Given the description of an element on the screen output the (x, y) to click on. 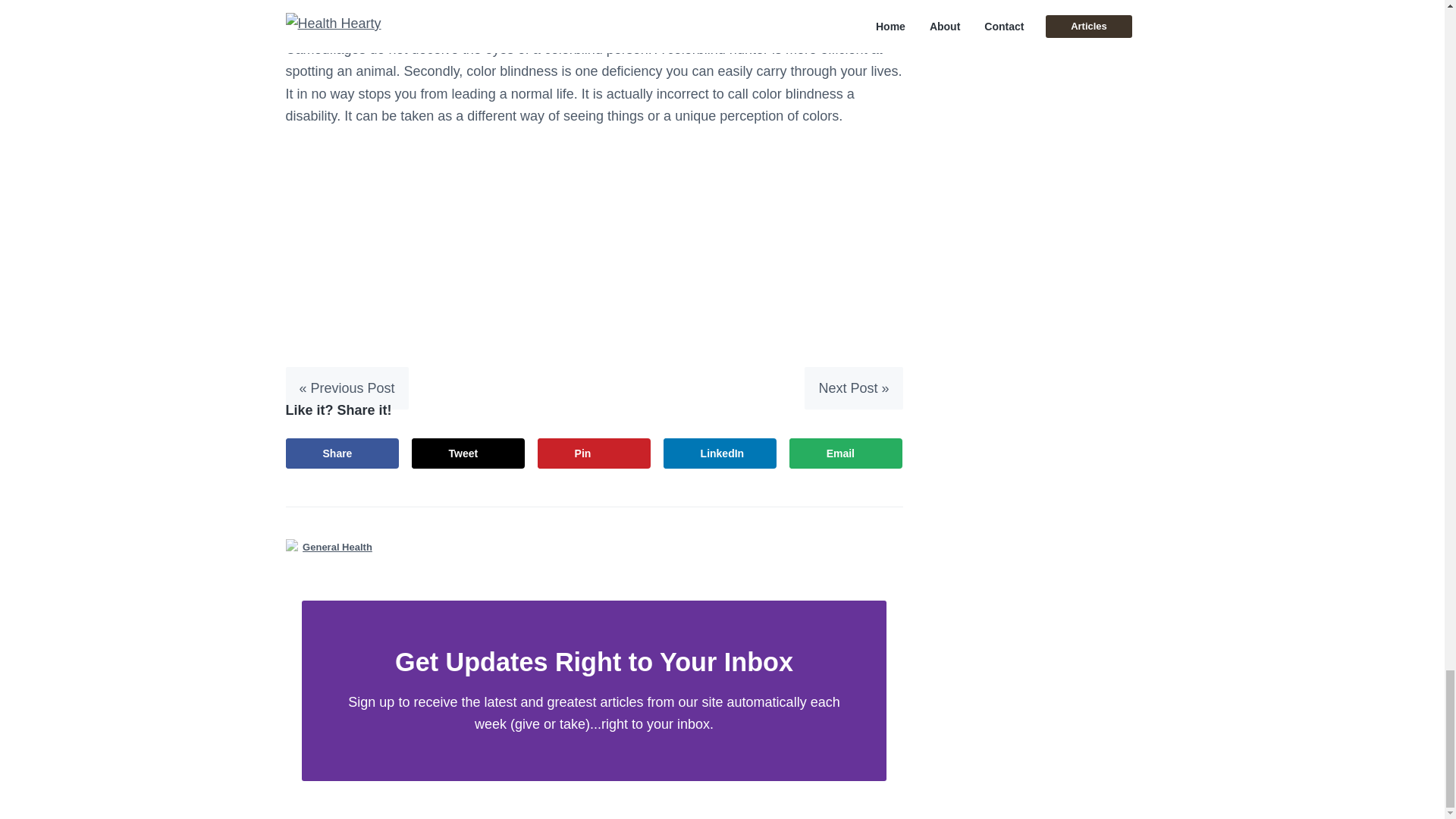
Save to Pinterest (593, 453)
General Health (337, 546)
Share on Facebook (341, 453)
Share (341, 453)
Send over email (845, 453)
Share on LinkedIn (720, 453)
Email (845, 453)
Tweet (468, 453)
Share on X (468, 453)
LinkedIn (720, 453)
